Given the description of an element on the screen output the (x, y) to click on. 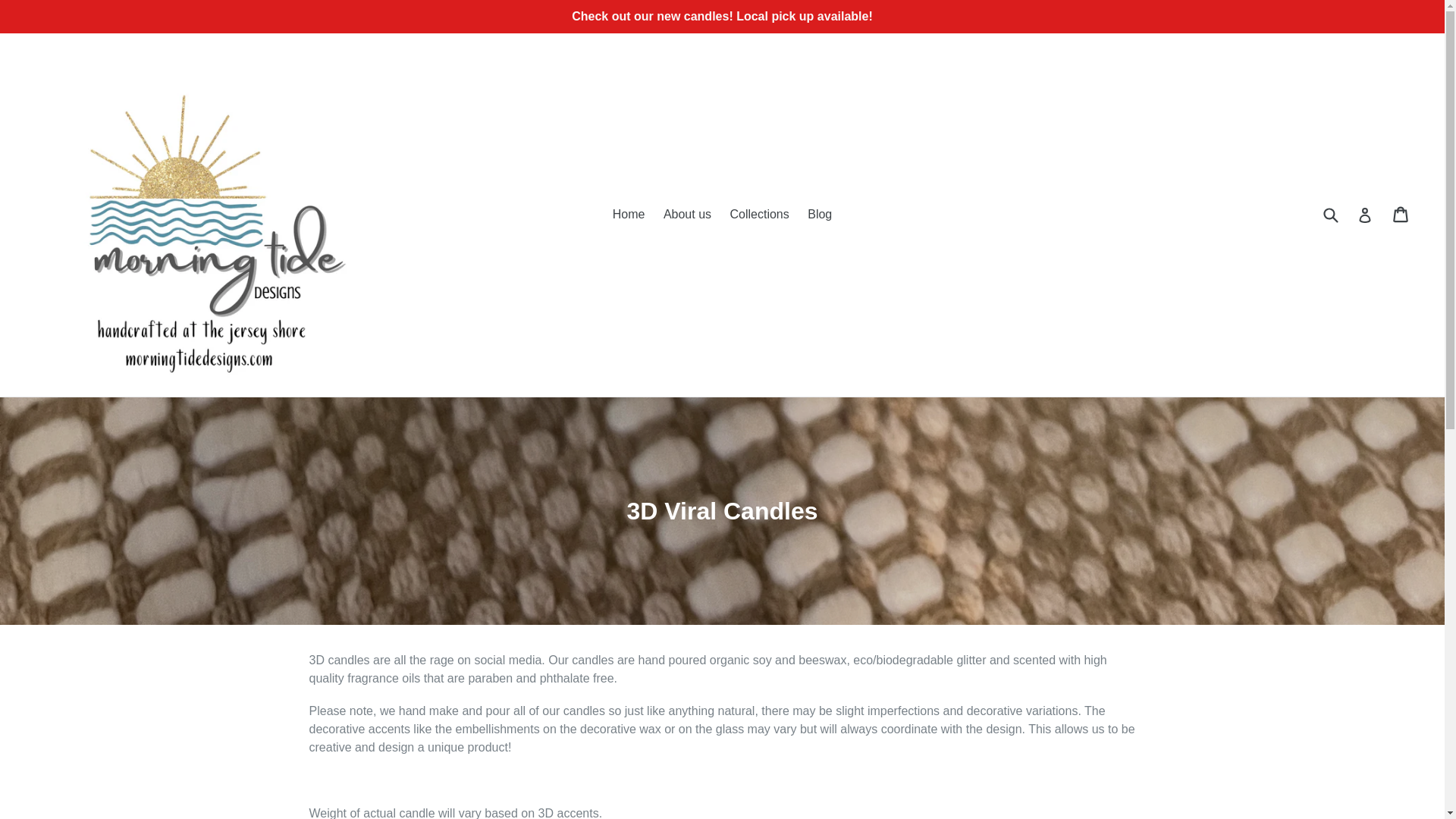
Collections (759, 214)
About us (687, 214)
Blog (819, 214)
Home (628, 214)
